Given the description of an element on the screen output the (x, y) to click on. 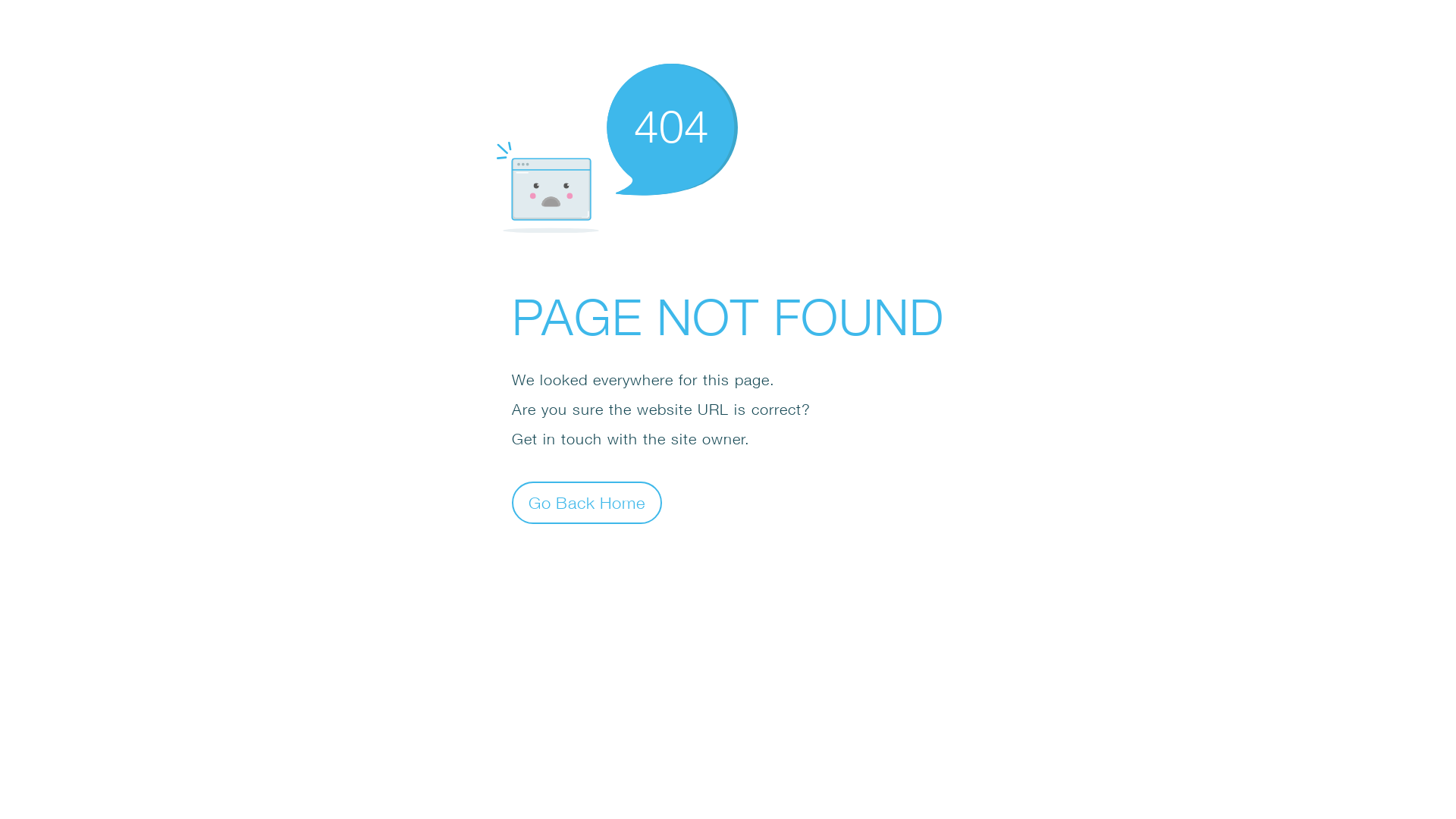
Go Back Home Element type: text (586, 502)
